Given the description of an element on the screen output the (x, y) to click on. 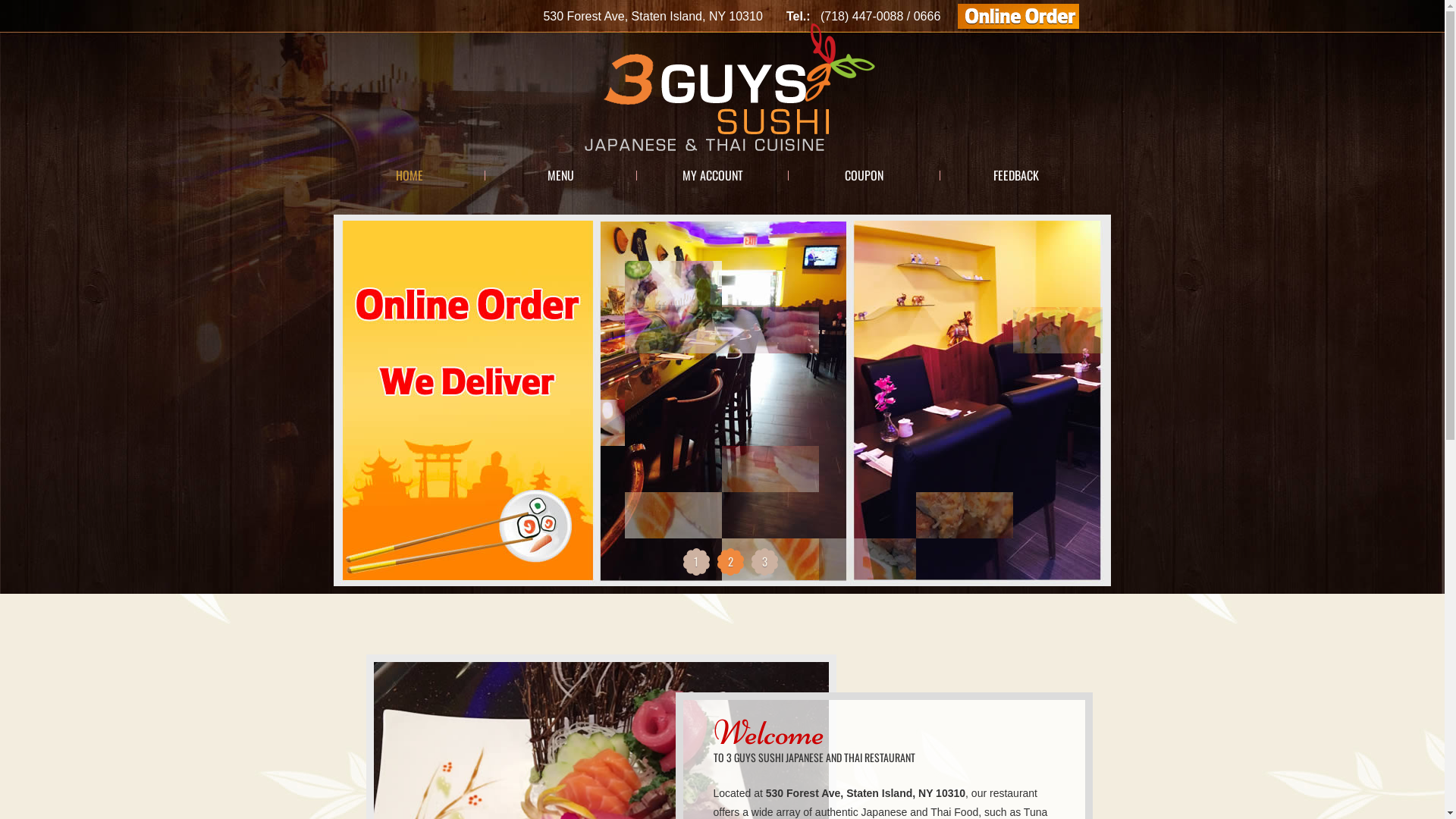
3 Element type: text (764, 561)
HOME Element type: text (409, 175)
COUPON Element type: text (864, 175)
MENU Element type: text (561, 175)
MY ACCOUNT Element type: text (712, 175)
2 Element type: text (730, 561)
1 Element type: text (696, 561)
FEEDBACK Element type: text (1016, 175)
